Given the description of an element on the screen output the (x, y) to click on. 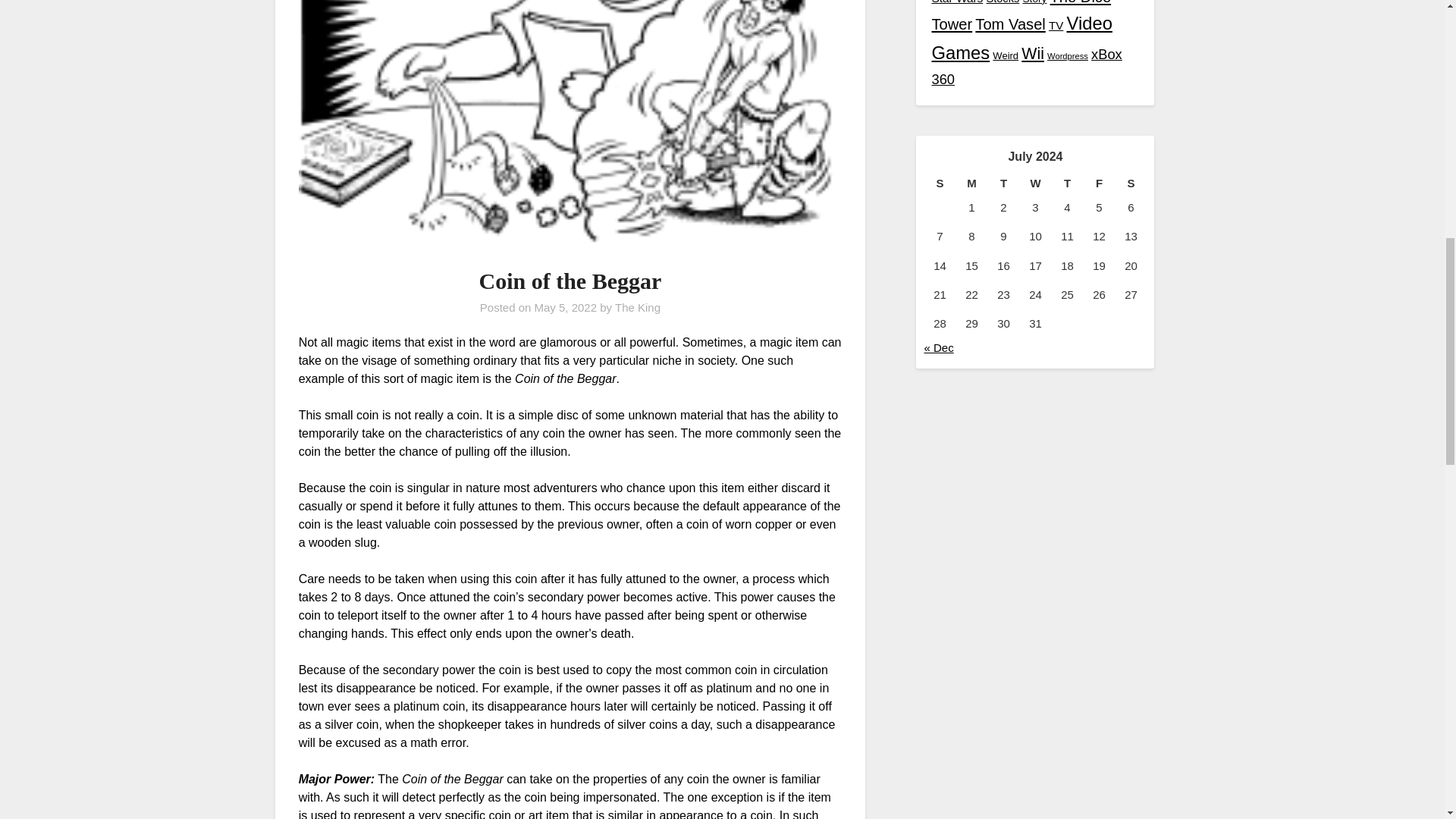
Tuesday (1003, 183)
May 5, 2022 (565, 307)
Friday (1099, 183)
Thursday (1067, 183)
Saturday (1131, 183)
The King (637, 307)
Sunday (939, 183)
Wednesday (1035, 183)
Monday (971, 183)
